Given the description of an element on the screen output the (x, y) to click on. 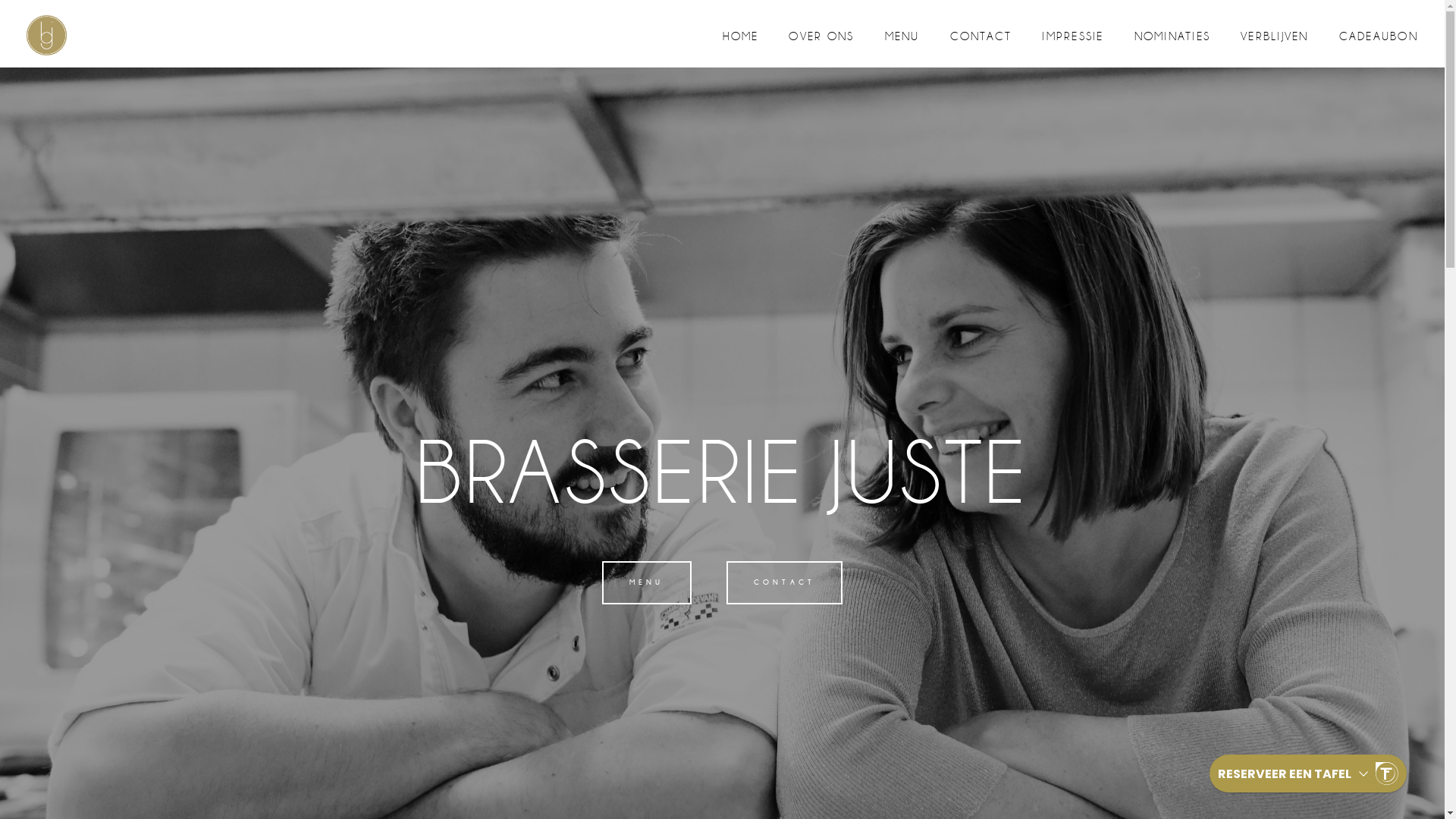
NOMINATIES Element type: text (1172, 35)
CONTACT Element type: text (784, 582)
CADEAUBON Element type: text (1378, 35)
IMPRESSIE Element type: text (1072, 35)
VERBLIJVEN Element type: text (1274, 35)
HOME Element type: text (740, 35)
MENU Element type: text (646, 582)
MENU Element type: text (901, 35)
CONTACT Element type: text (981, 35)
OVER ONS Element type: text (820, 35)
